Given the description of an element on the screen output the (x, y) to click on. 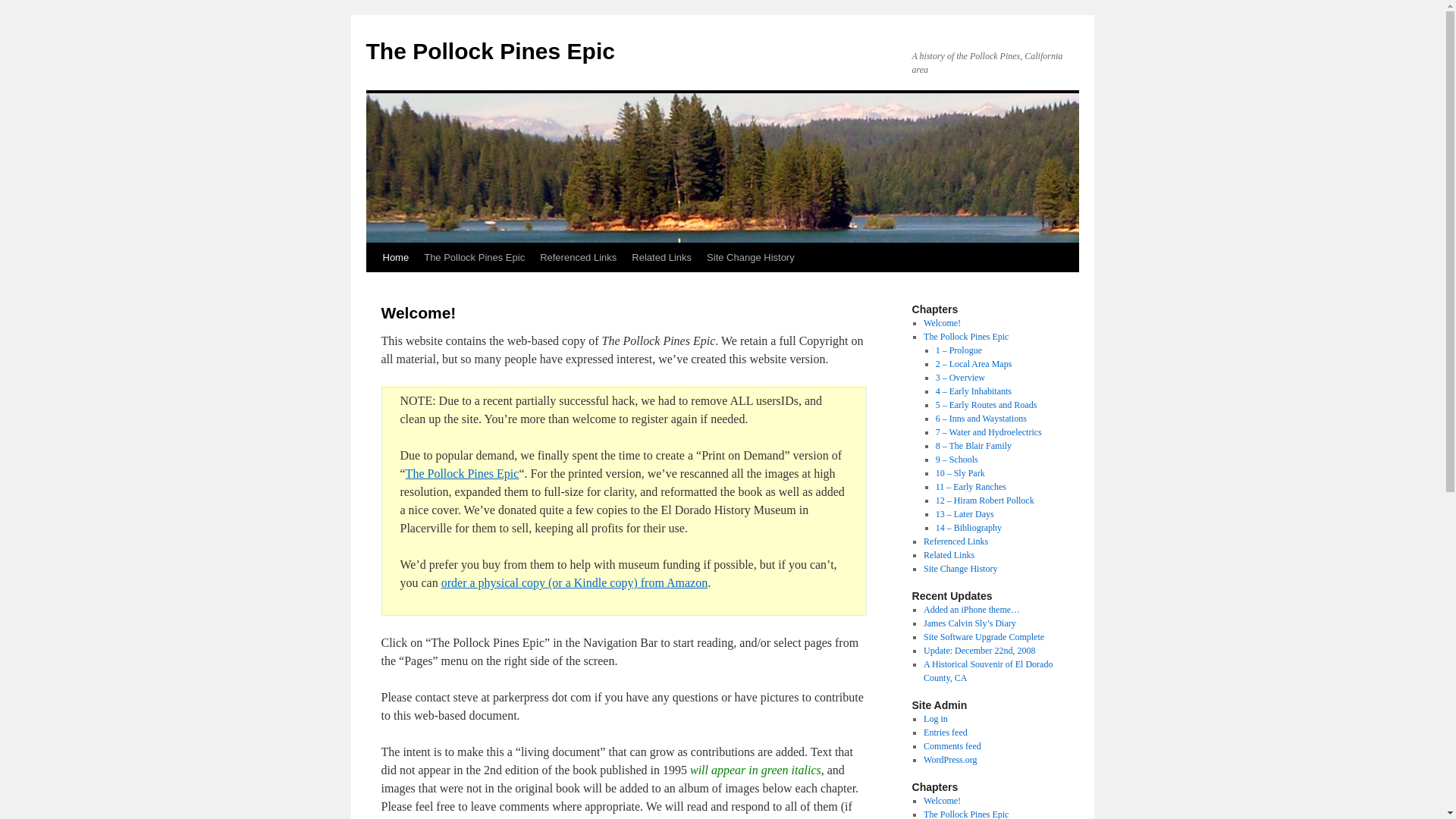
The Pollock Pines Epic (474, 257)
The Pollock Pines Epic (966, 336)
Home (395, 257)
Related Links (661, 257)
Referenced Links (578, 257)
Site Change History (750, 257)
Welcome! (941, 322)
The Pollock Pines Epic (489, 50)
The Pollock Pines Epic (462, 472)
